Given the description of an element on the screen output the (x, y) to click on. 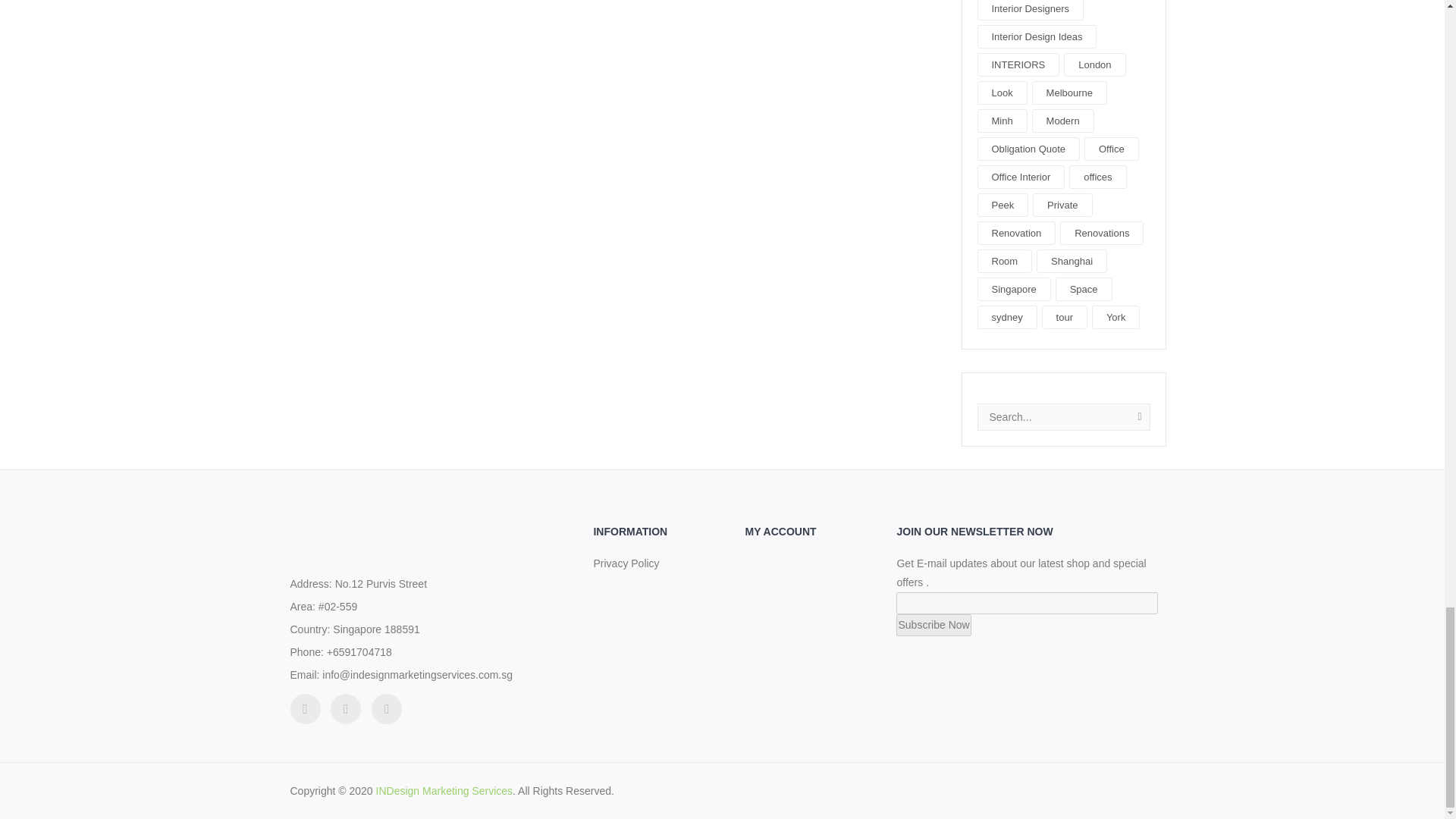
twitter (304, 708)
facebook (345, 708)
Subscribe Now (933, 625)
Search... (1064, 416)
googleplus (386, 708)
